Given the description of an element on the screen output the (x, y) to click on. 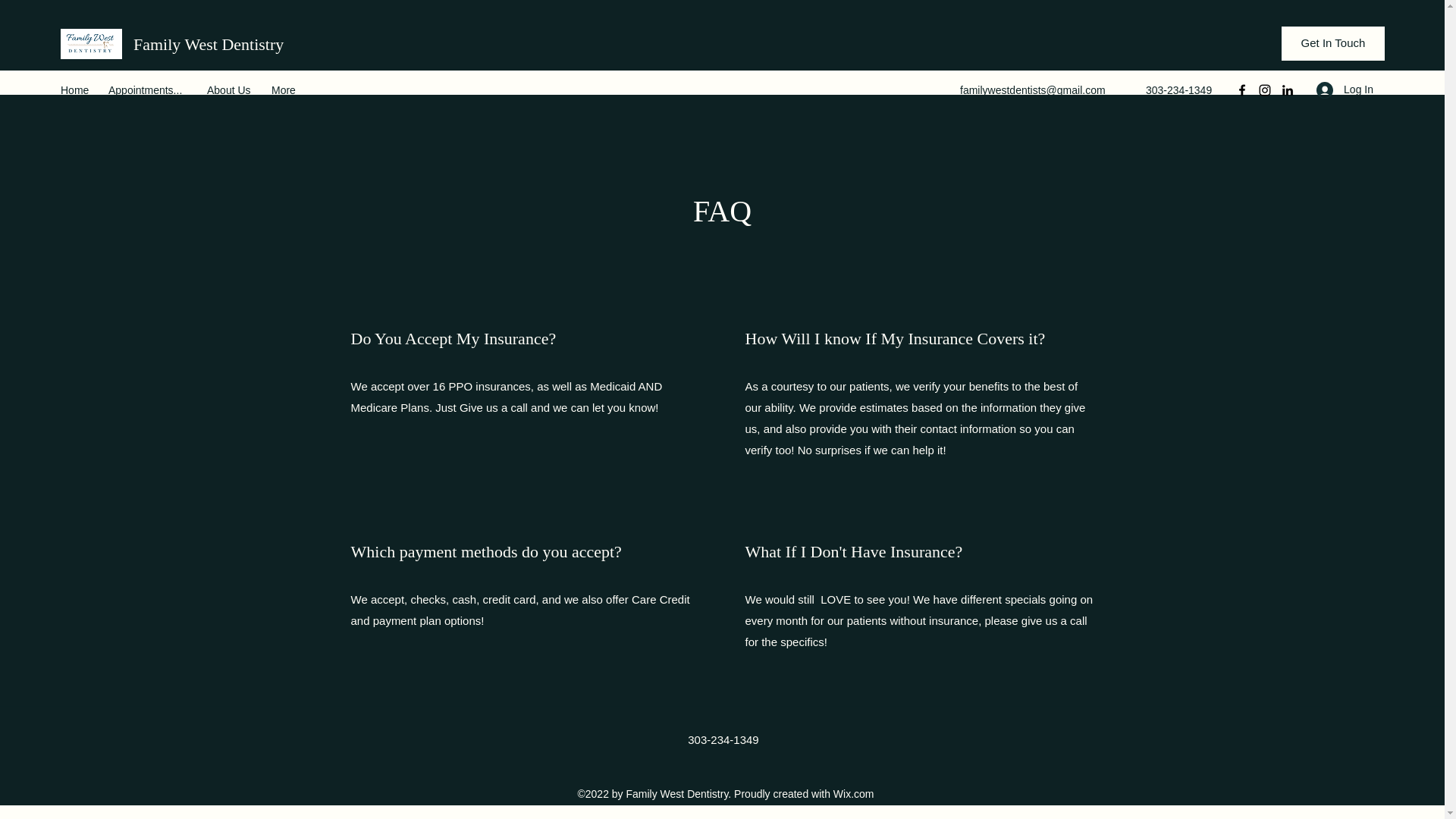
Log In (1345, 90)
About Us (231, 89)
Appointments... (149, 89)
Home (76, 89)
Family West Dentistry (208, 44)
